Given the description of an element on the screen output the (x, y) to click on. 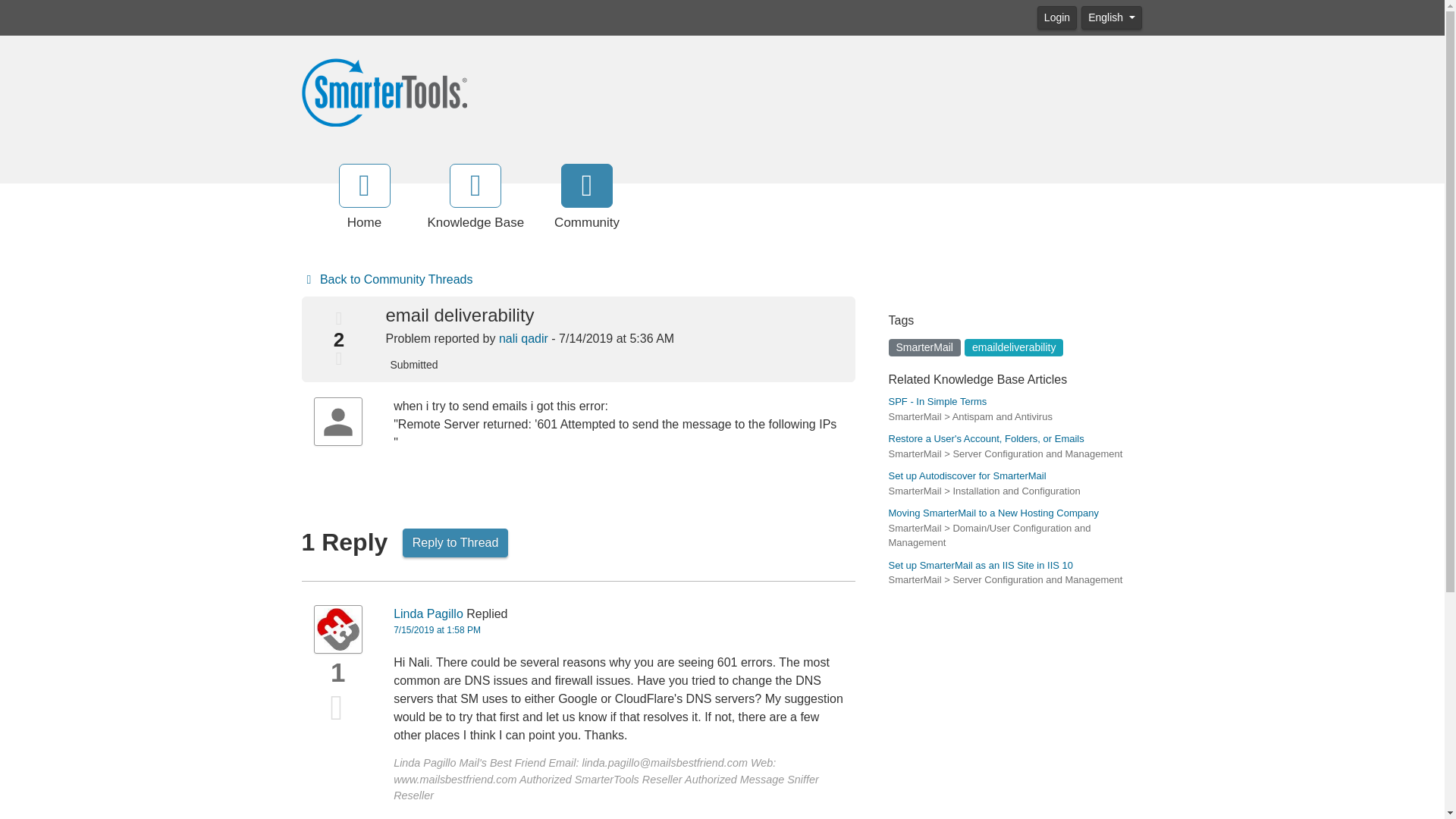
Knowledge Base (476, 197)
Back to Community Threads (387, 280)
Community (586, 197)
nali qadir (523, 338)
Login (1056, 17)
SmarterTools (384, 90)
English (1111, 17)
Home (364, 197)
